Given the description of an element on the screen output the (x, y) to click on. 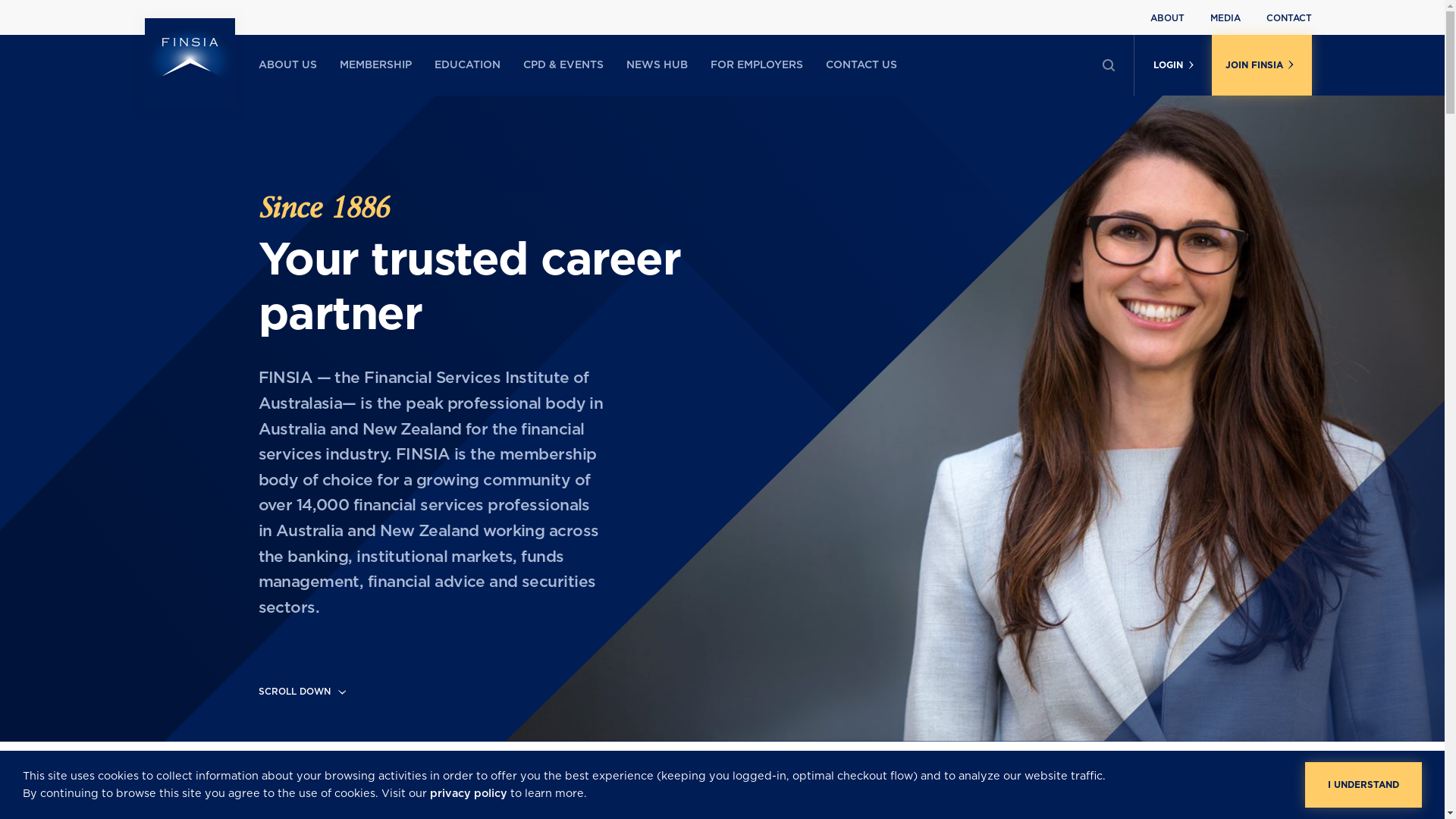
MEMBERSHIP Element type: text (375, 64)
ABOUT Element type: text (1166, 17)
Skip to main content Element type: text (0, 0)
FOR EMPLOYERS Element type: text (755, 64)
I UNDERSTAND Element type: text (1363, 784)
JOIN FINSIA Element type: text (1261, 64)
MEDIA Element type: text (1225, 17)
EDUCATION Element type: text (466, 64)
NEWS HUB Element type: text (656, 64)
CONTACT US Element type: text (860, 64)
CONTACT Element type: text (1288, 17)
ABOUT US Element type: text (286, 64)
CPD & EVENTS Element type: text (563, 64)
LOGIN Element type: text (1171, 64)
privacy policy Element type: text (468, 793)
